Given the description of an element on the screen output the (x, y) to click on. 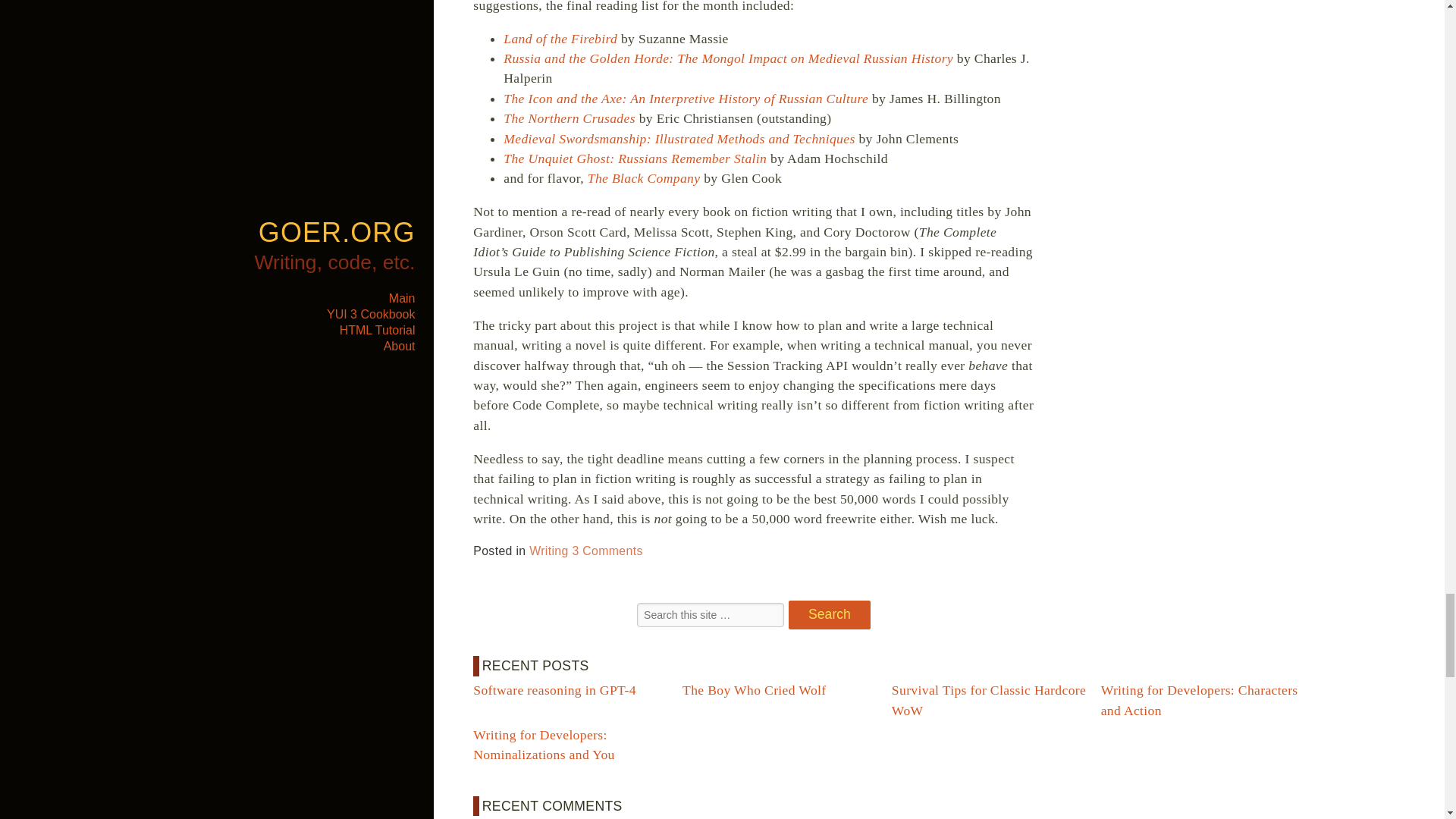
Search (829, 614)
